Given the description of an element on the screen output the (x, y) to click on. 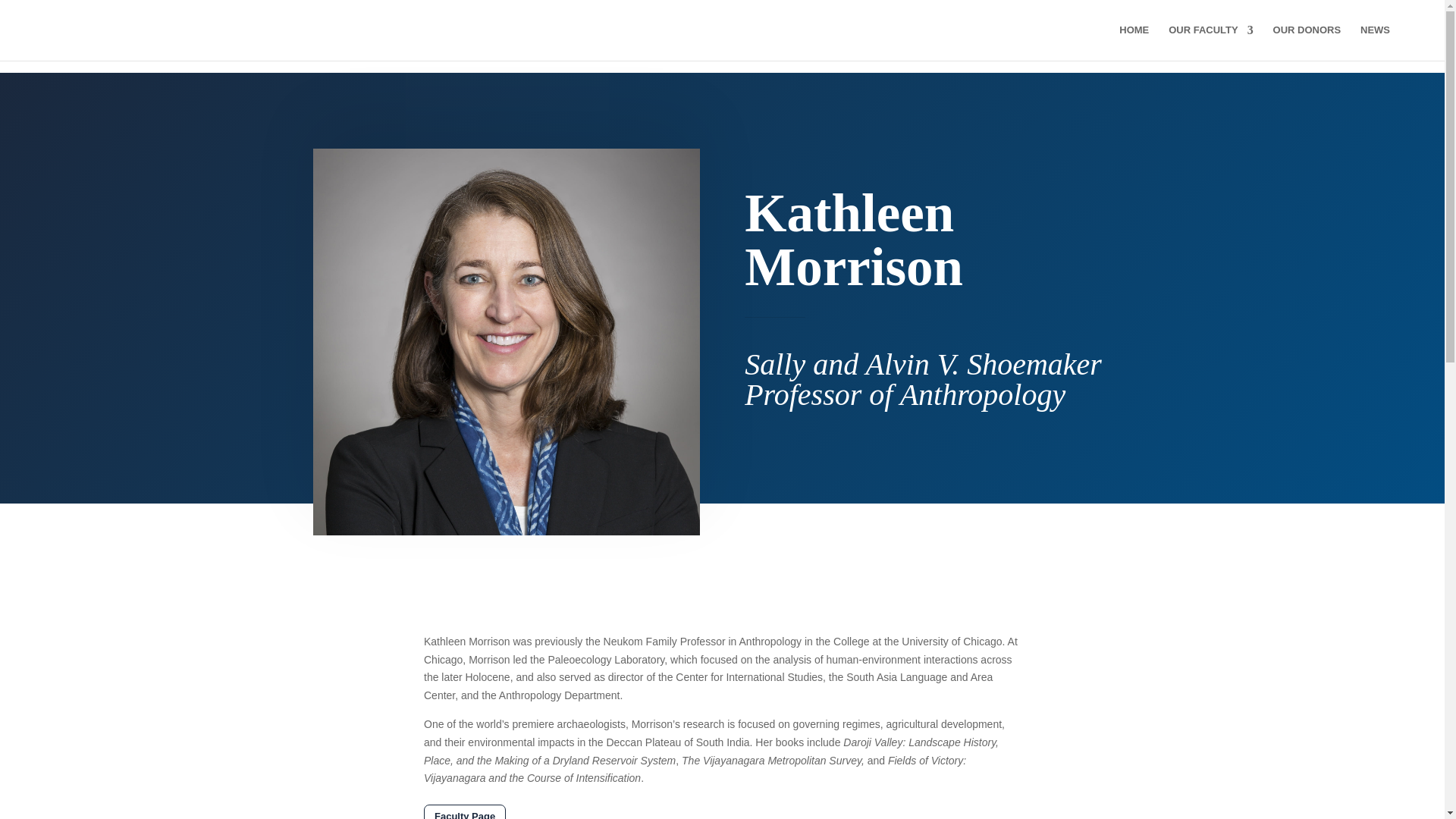
Faculty Page (464, 811)
OUR DONORS (1306, 42)
OUR FACULTY (1210, 42)
